Given the description of an element on the screen output the (x, y) to click on. 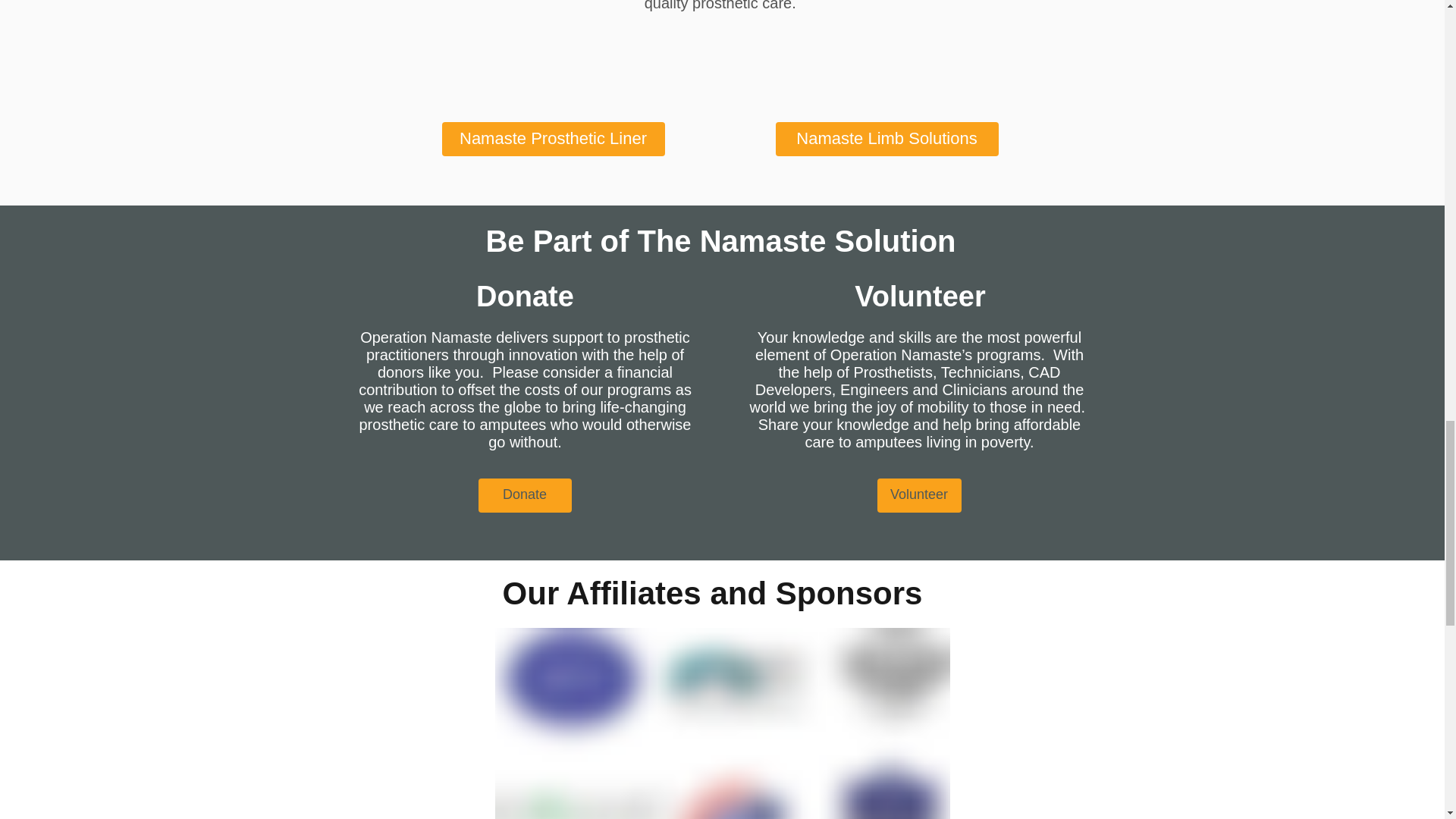
Donate (523, 495)
Namaste Prosthetic Liner (552, 139)
Volunteer (918, 495)
Namaste Limb Solutions (885, 139)
